Given the description of an element on the screen output the (x, y) to click on. 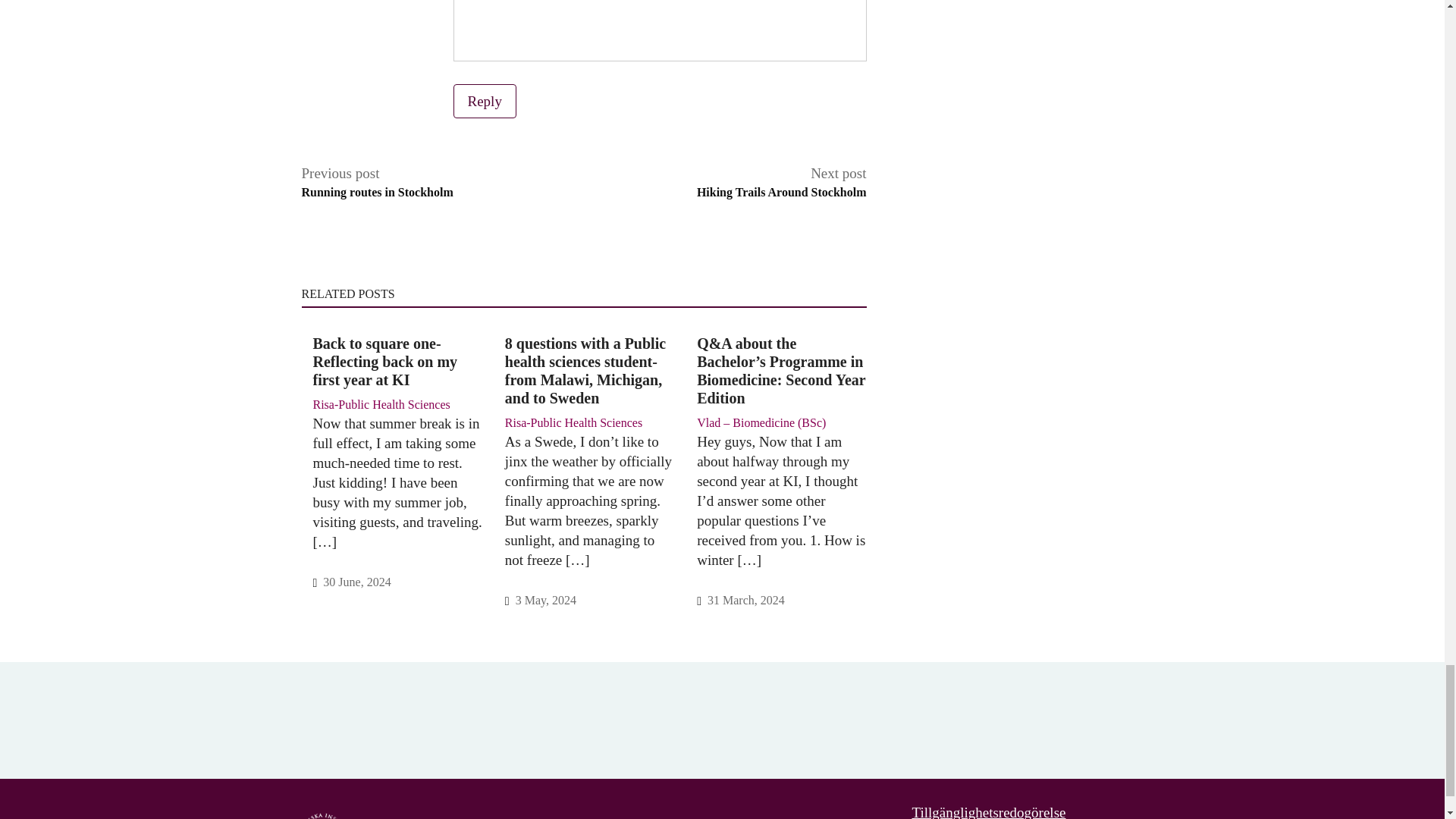
Back to square one- Reflecting back on my first year at KI (397, 361)
Risa-Public Health Sciences (376, 182)
Reply (781, 182)
